Given the description of an element on the screen output the (x, y) to click on. 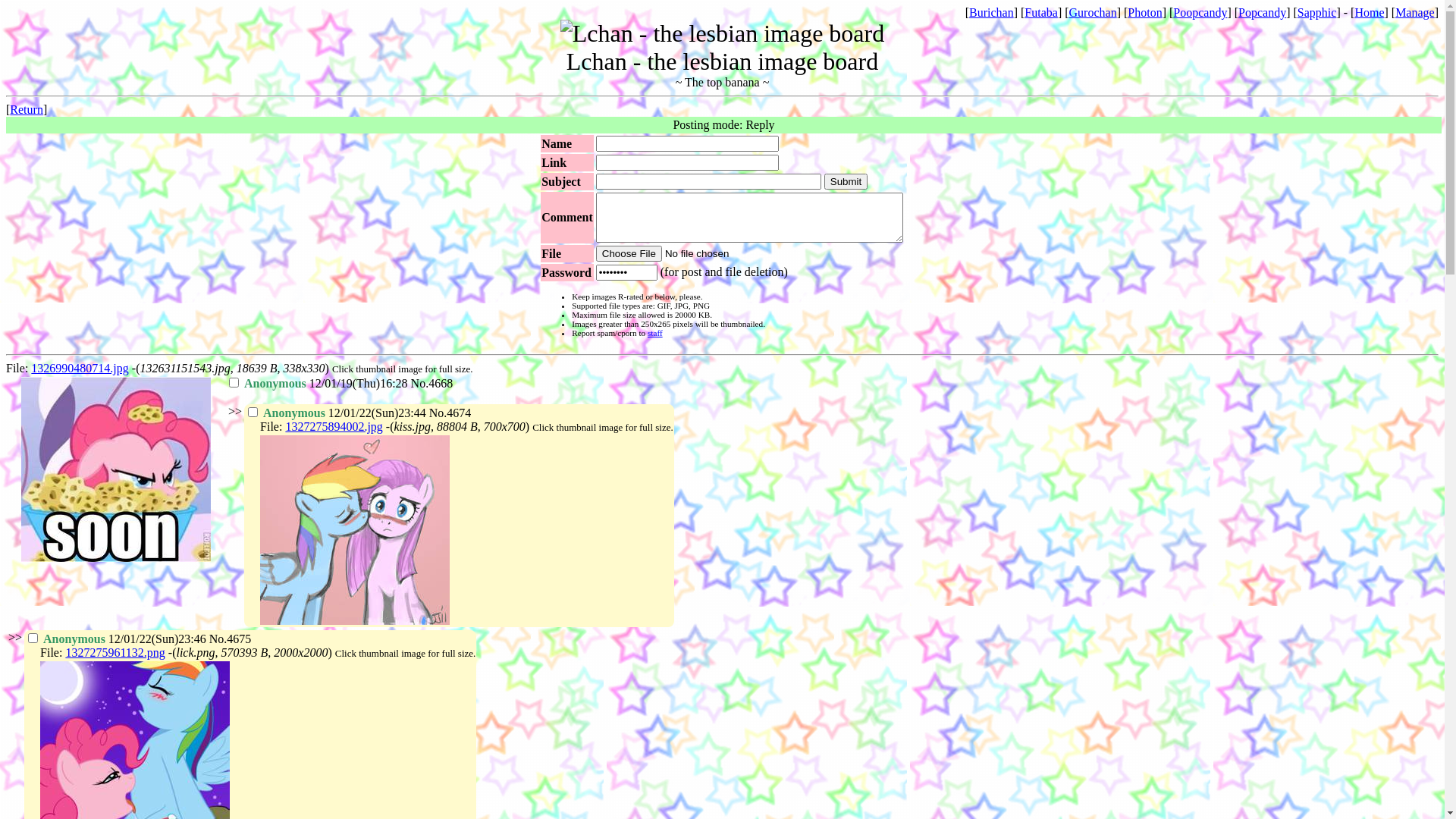
1327275961132.png Element type: text (114, 652)
1326990480714.jpg Element type: text (79, 367)
No.4675 Element type: text (230, 638)
Photon Element type: text (1144, 12)
Return Element type: text (26, 109)
No.4668 Element type: text (432, 382)
1327275894002.jpg Element type: text (333, 426)
staff Element type: text (654, 332)
No.4674 Element type: text (450, 412)
Gurochan Element type: text (1093, 12)
Popcandy Element type: text (1262, 12)
Manage Element type: text (1414, 12)
Futaba Element type: text (1040, 12)
Submit Element type: text (845, 181)
Poopcandy Element type: text (1199, 12)
Burichan Element type: text (991, 12)
Sapphic Element type: text (1316, 12)
Home Element type: text (1368, 12)
